Given the description of an element on the screen output the (x, y) to click on. 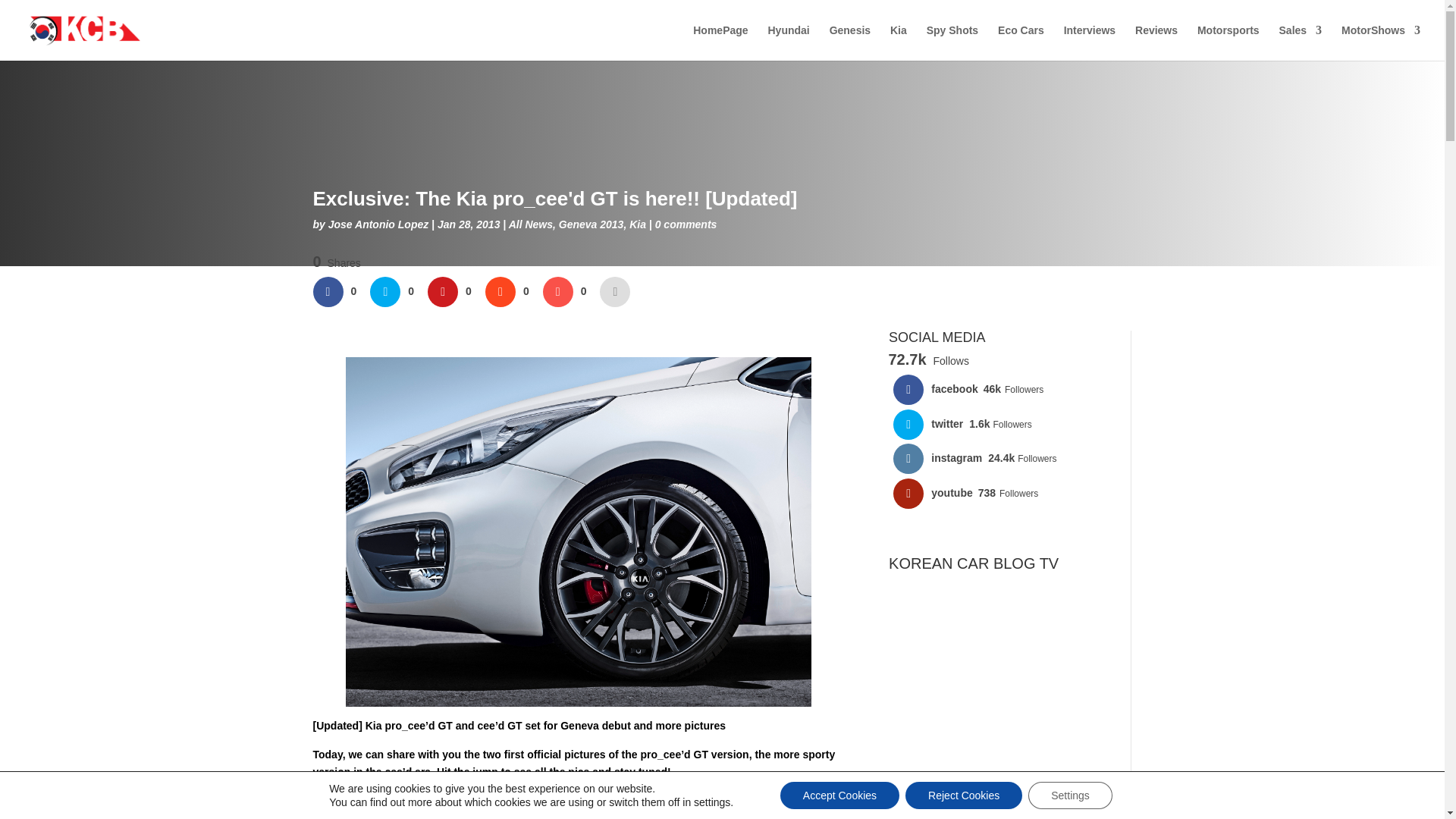
Home (720, 42)
Next-Gen KIA Telluride Spied in California (998, 719)
Eco Cars (1020, 42)
Spy Shots (952, 42)
Interviews (1089, 42)
Sales (1300, 42)
MotorShows (1380, 42)
Genesis (849, 42)
HomePage (720, 42)
Posts by Jose Antonio Lopez (378, 224)
